Given the description of an element on the screen output the (x, y) to click on. 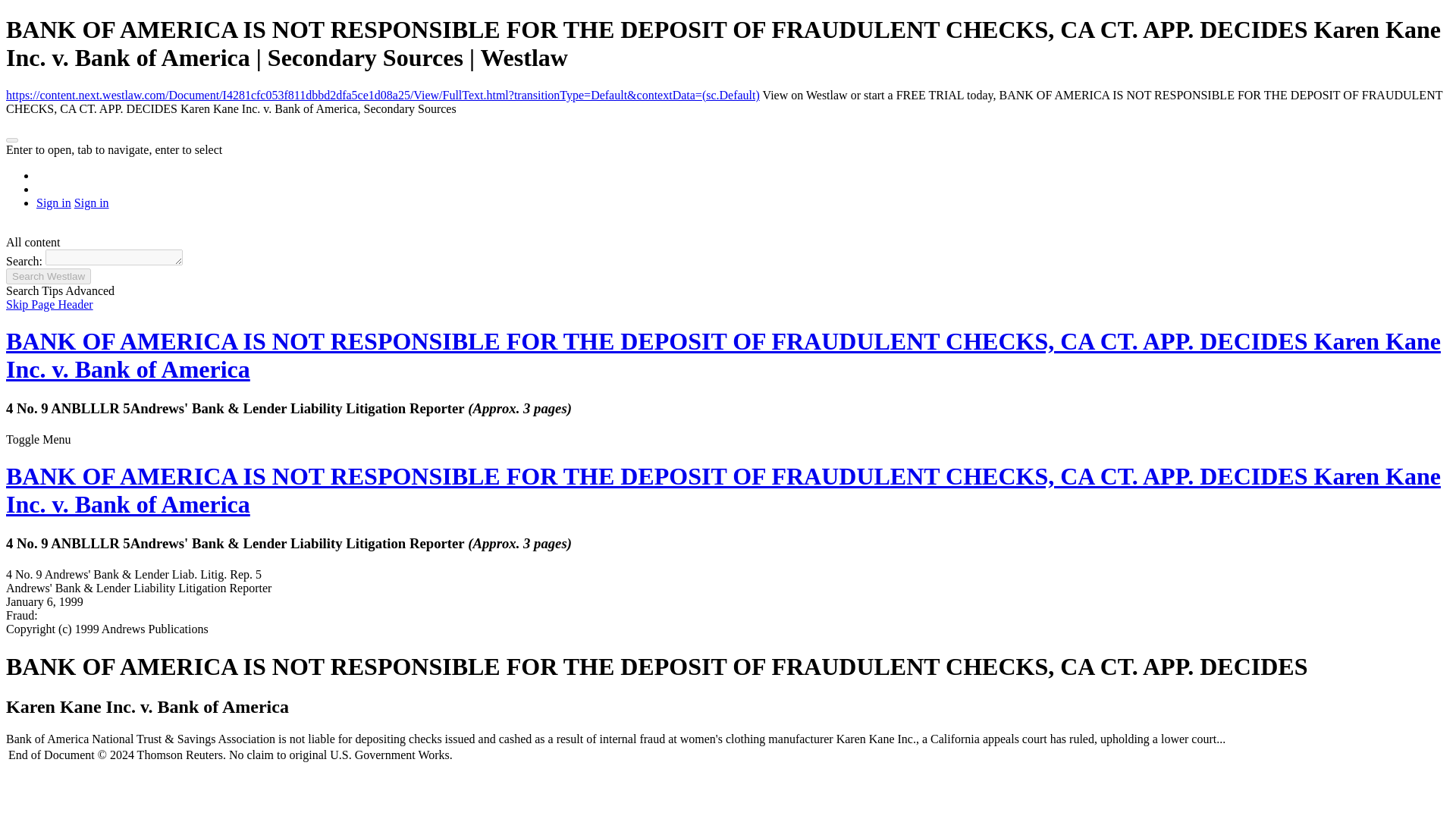
Advanced (90, 290)
Search  (47, 276)
Skip Page Header (49, 304)
Search Westlaw (47, 276)
Toggle Menu (38, 439)
Thomson Reuters products (11, 140)
Sign in (91, 202)
Search Tips (35, 290)
